Given the description of an element on the screen output the (x, y) to click on. 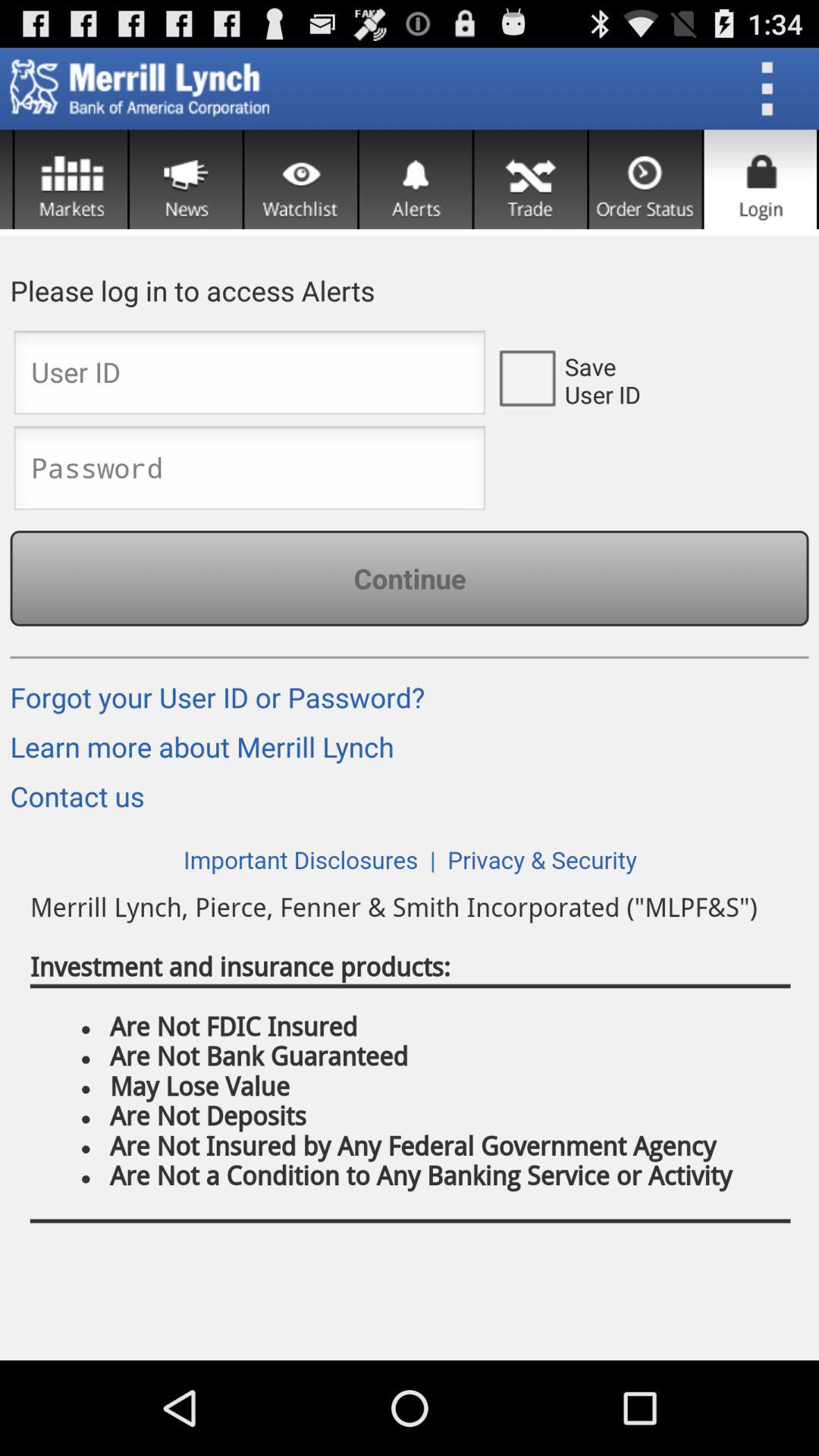
check order status (645, 179)
